Given the description of an element on the screen output the (x, y) to click on. 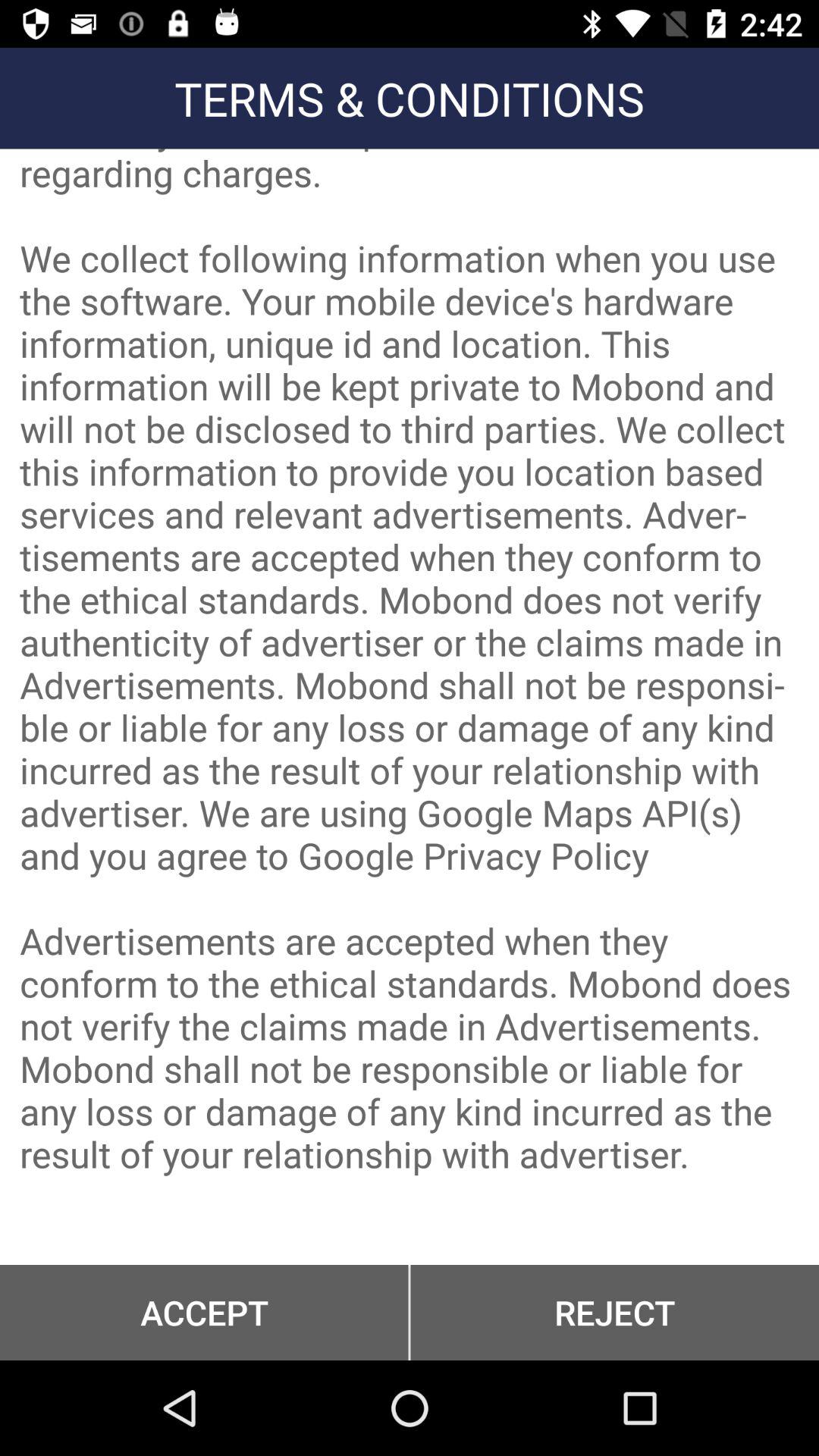
open app below the please read these app (204, 1312)
